Given the description of an element on the screen output the (x, y) to click on. 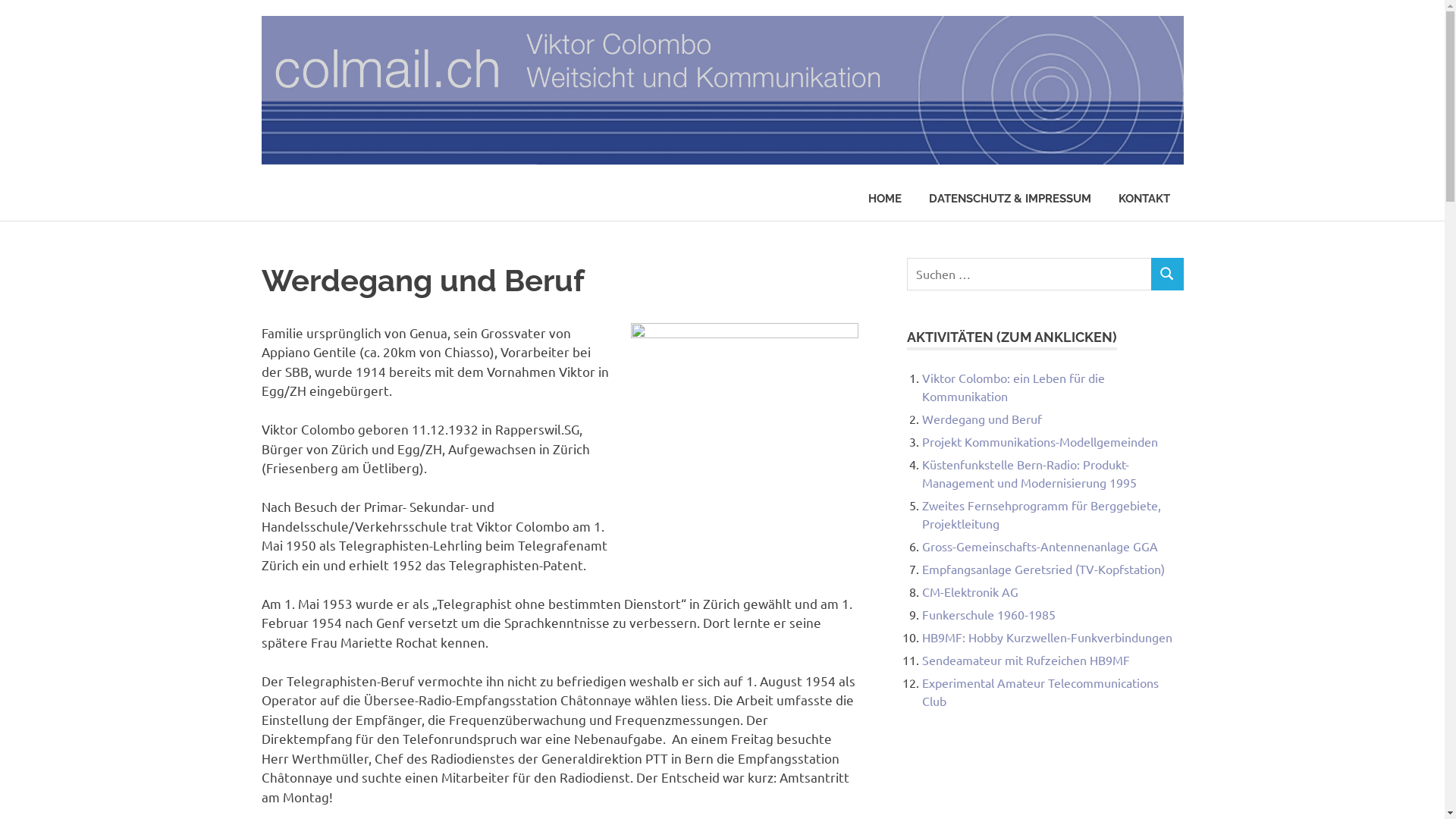
Sendeamateur mit Rufzeichen HB9MF Element type: text (1025, 659)
CM-Elektronik AG Element type: text (970, 591)
Suchen nach: Element type: hover (1028, 273)
HOME Element type: text (883, 198)
Werdegang und Beruf Element type: text (981, 418)
SUCHEN Element type: text (1167, 273)
Empfangsanlage Geretsried (TV-Kopfstation) Element type: text (1043, 568)
DATENSCHUTZ & IMPRESSUM Element type: text (1009, 198)
Gross-Gemeinschafts-Antennenanlage GGA Element type: text (1039, 545)
HB9MF: Hobby Kurzwellen-Funkverbindungen Element type: text (1047, 636)
Projekt Kommunikations-Modellgemeinden Element type: text (1039, 440)
Funkerschule 1960-1985 Element type: text (988, 613)
Experimental Amateur Telecommunications Club Element type: text (1040, 691)
KONTAKT Element type: text (1143, 198)
